Given the description of an element on the screen output the (x, y) to click on. 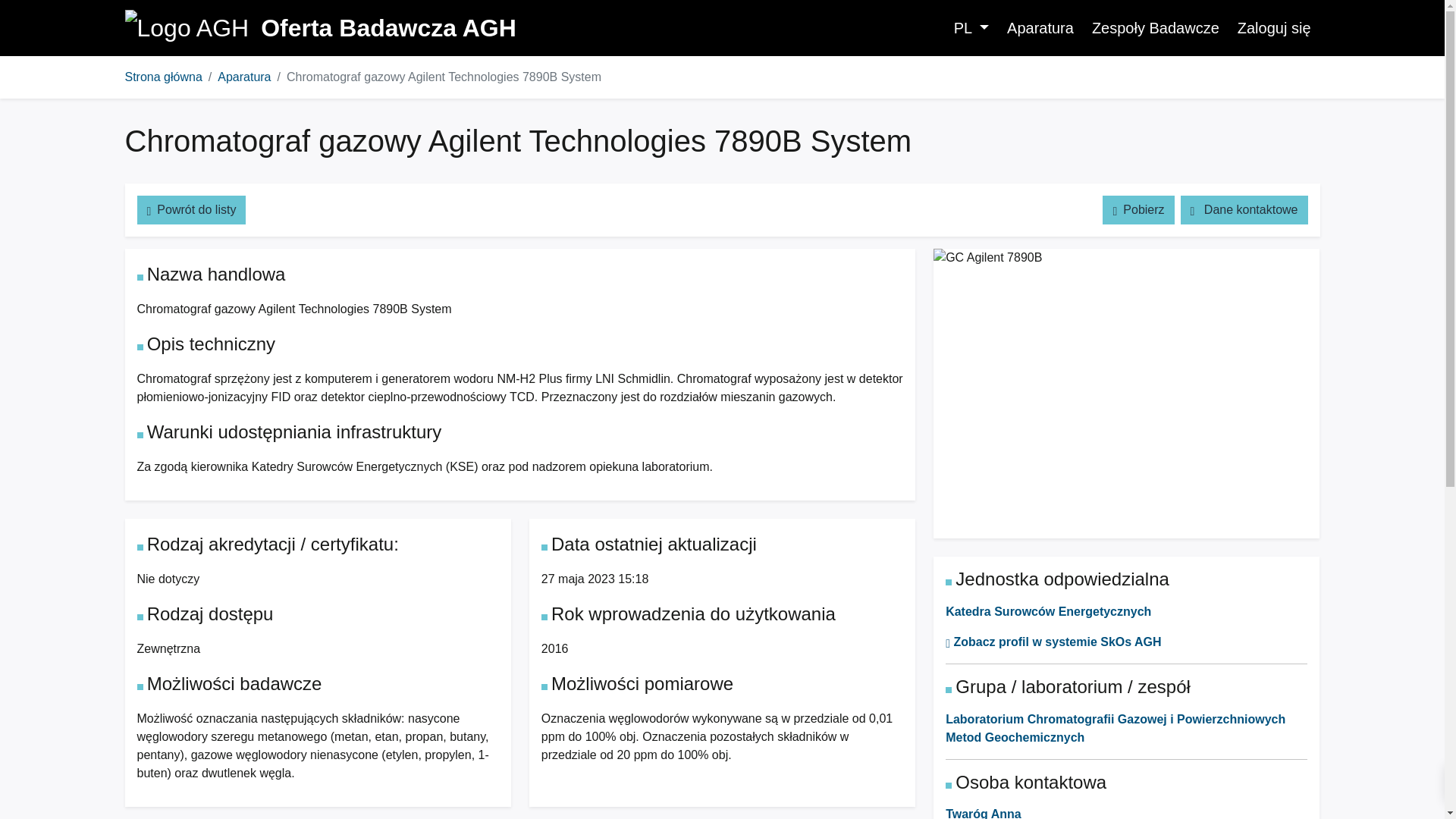
Zobacz profil w systemie SkOs AGH (1052, 641)
Aparatura (243, 76)
Oferta Badawcza AGH (319, 27)
Aparatura (1040, 27)
PL (970, 27)
Dane kontaktowe (1243, 209)
Pobierz (1137, 209)
Zobacz profil w systemie SkOs AGH (1052, 641)
